Given the description of an element on the screen output the (x, y) to click on. 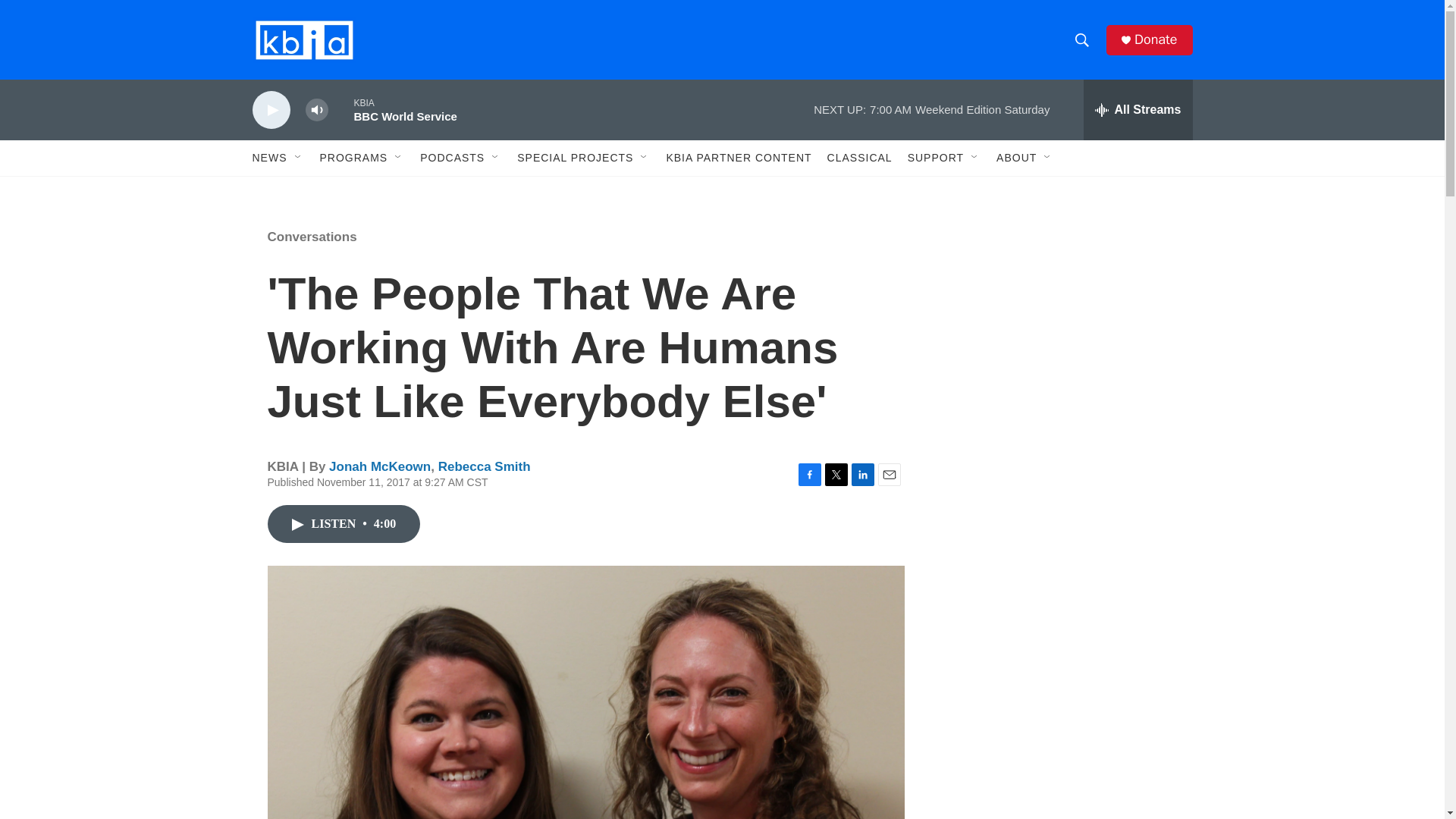
3rd party ad content (1062, 740)
3rd party ad content (1062, 316)
3rd party ad content (1062, 536)
